Given the description of an element on the screen output the (x, y) to click on. 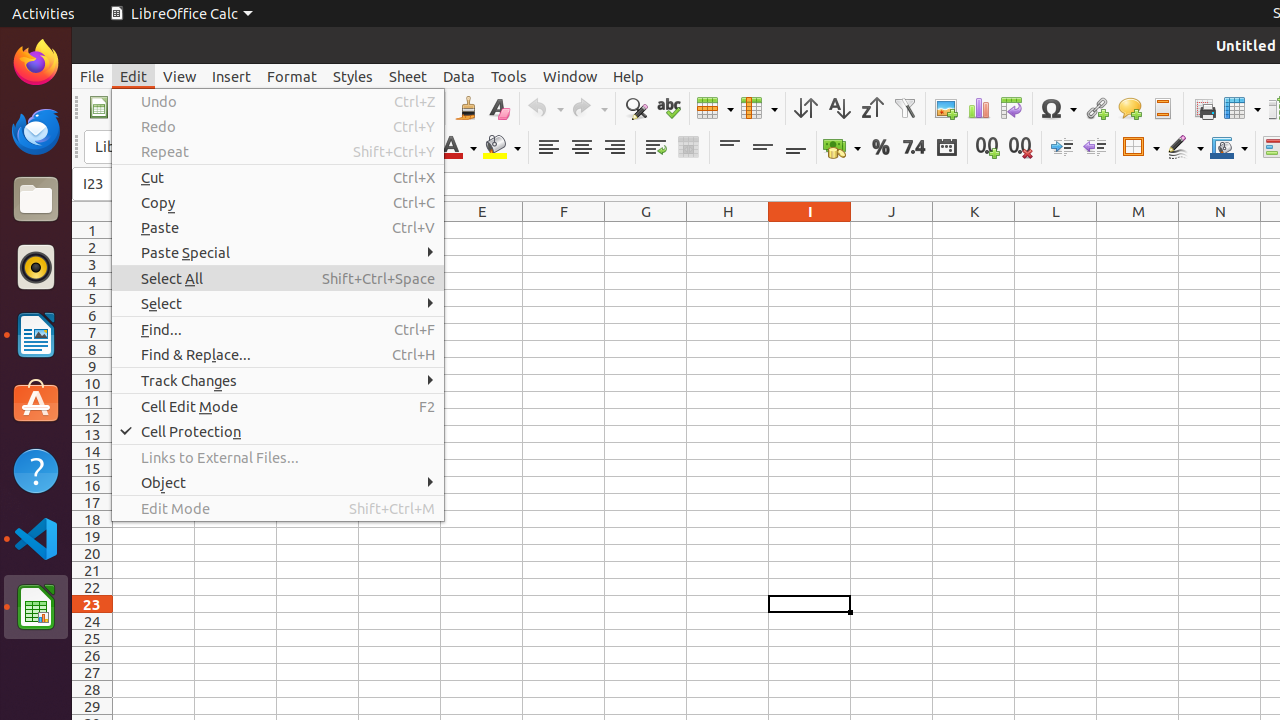
LibreOffice Calc Element type: push-button (36, 607)
Copy Element type: menu-item (278, 202)
Object Element type: menu (278, 482)
